Given the description of an element on the screen output the (x, y) to click on. 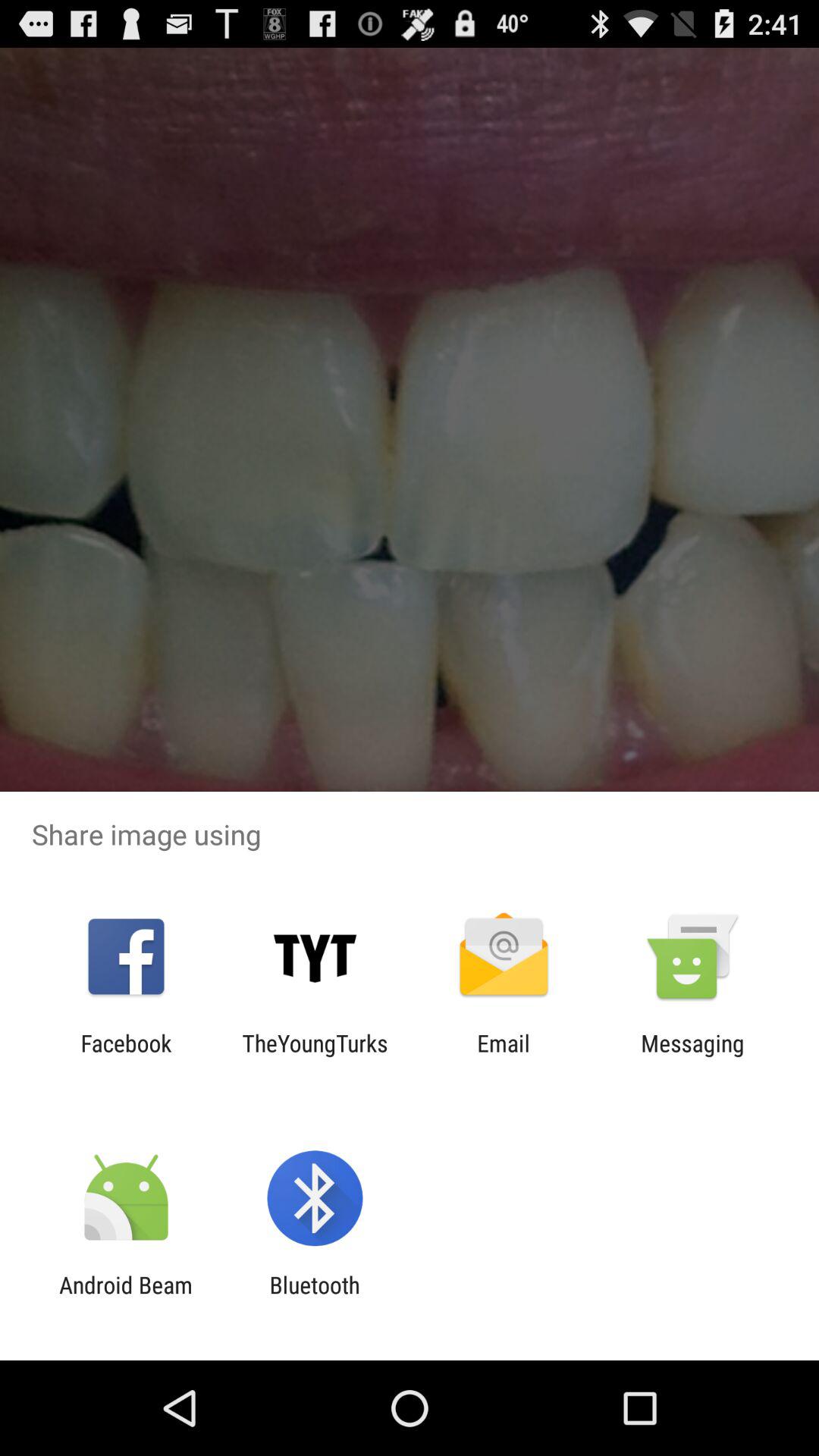
choose the app next to android beam item (314, 1298)
